Given the description of an element on the screen output the (x, y) to click on. 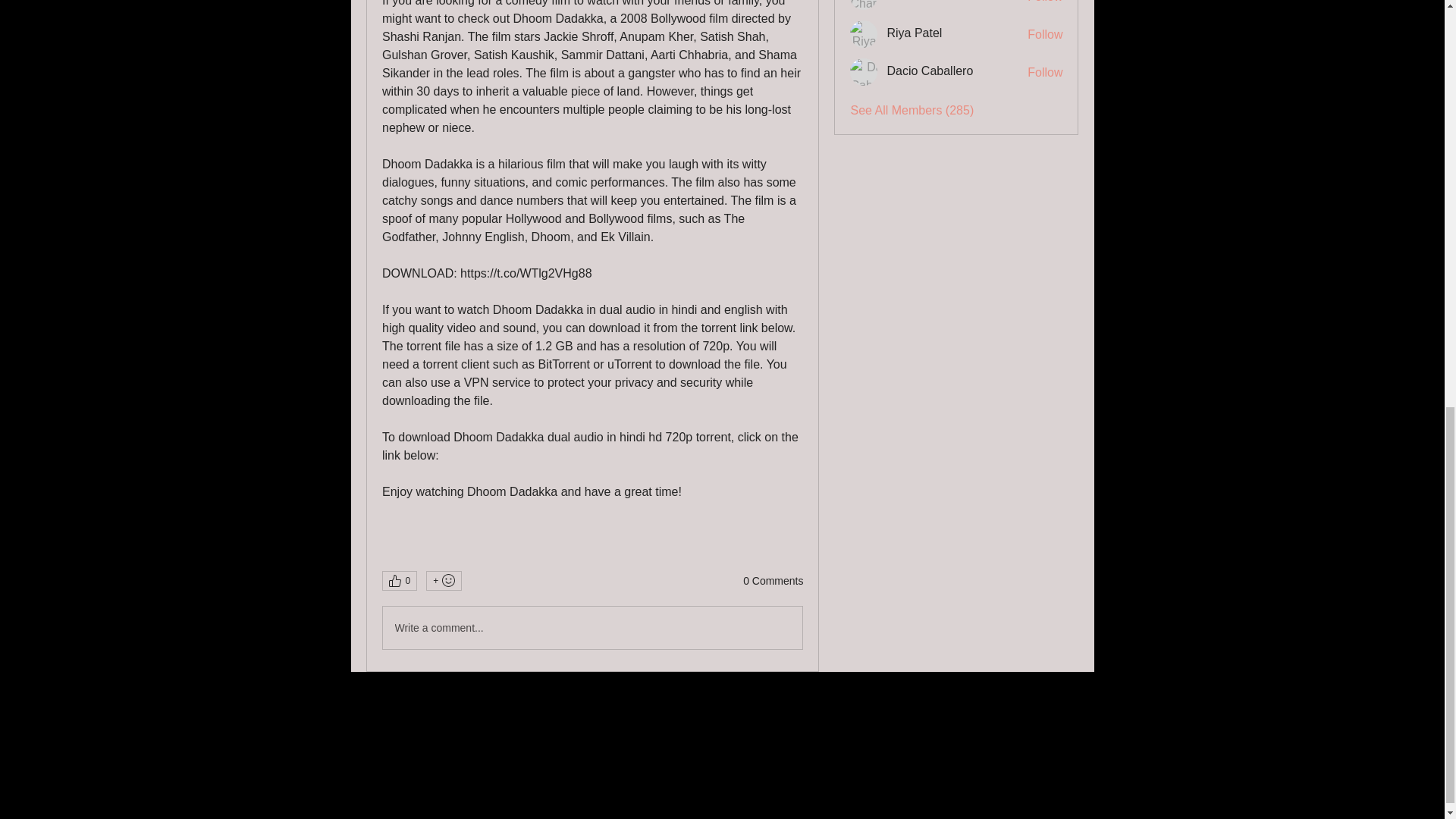
0 Comments (772, 581)
Follow (1044, 72)
Riya Patel (863, 33)
Follow (1044, 2)
Write a comment... (591, 627)
Follow (1044, 34)
Charles Brown (863, 4)
Dacio Caballero (863, 71)
